Given the description of an element on the screen output the (x, y) to click on. 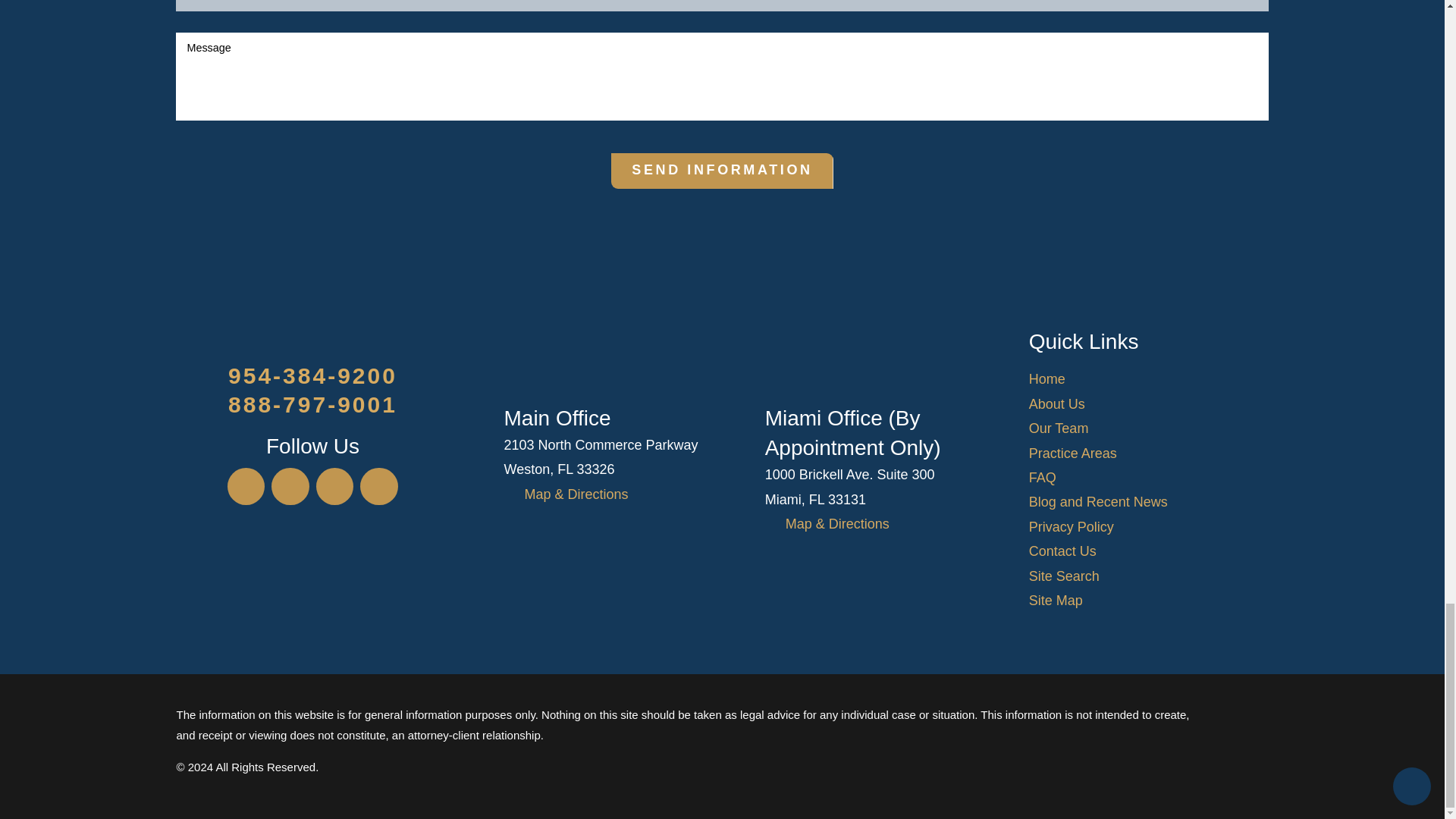
Twitter (289, 486)
Google Business Profile (334, 486)
Facebook (245, 486)
